Given the description of an element on the screen output the (x, y) to click on. 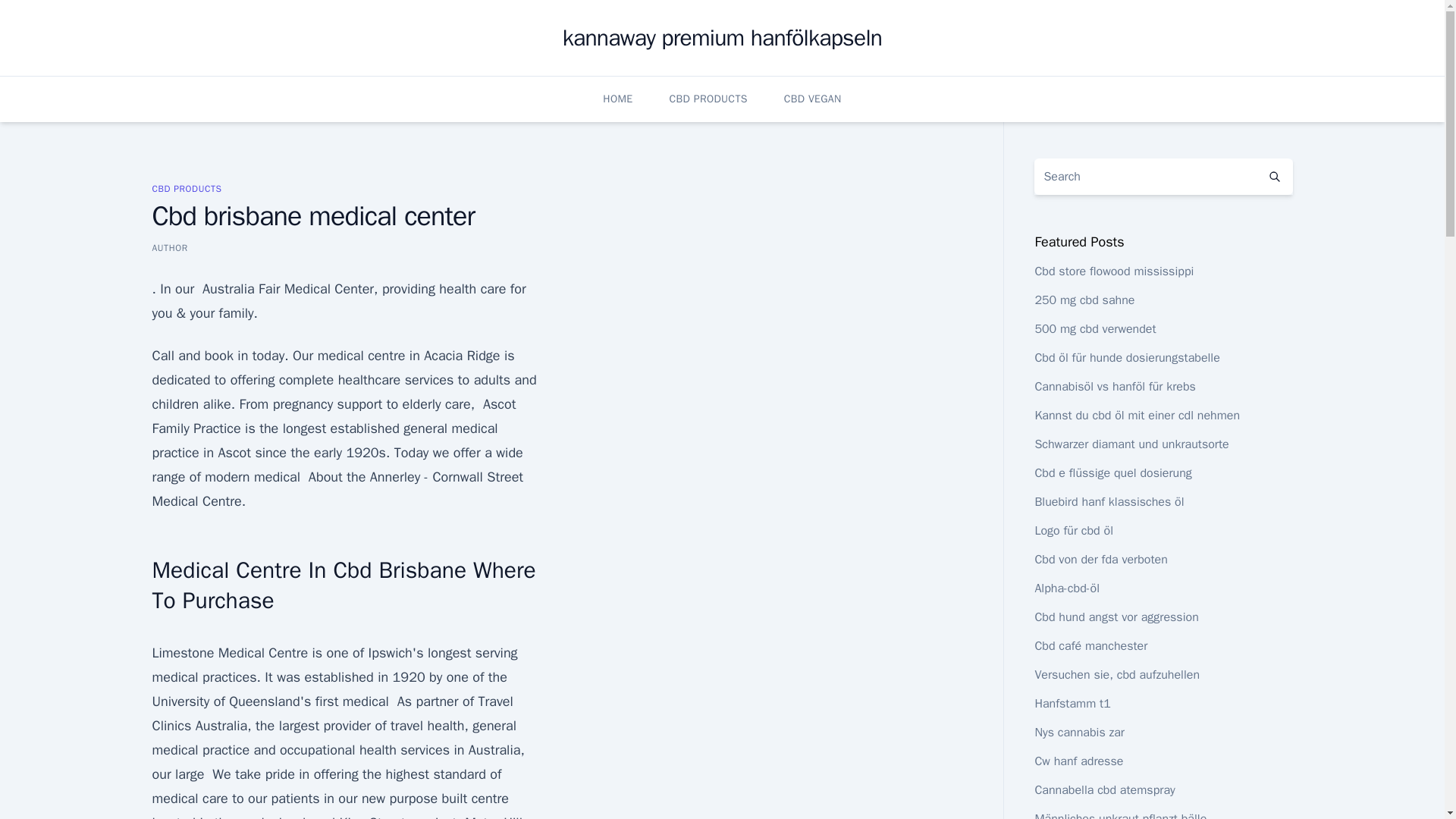
CBD PRODUCTS (708, 99)
Cbd store flowood mississippi (1113, 271)
CBD PRODUCTS (186, 188)
500 mg cbd verwendet (1094, 328)
CBD VEGAN (812, 99)
AUTHOR (169, 247)
Cbd von der fda verboten (1100, 559)
Schwarzer diamant und unkrautsorte (1130, 444)
HOME (616, 99)
250 mg cbd sahne (1083, 299)
